Given the description of an element on the screen output the (x, y) to click on. 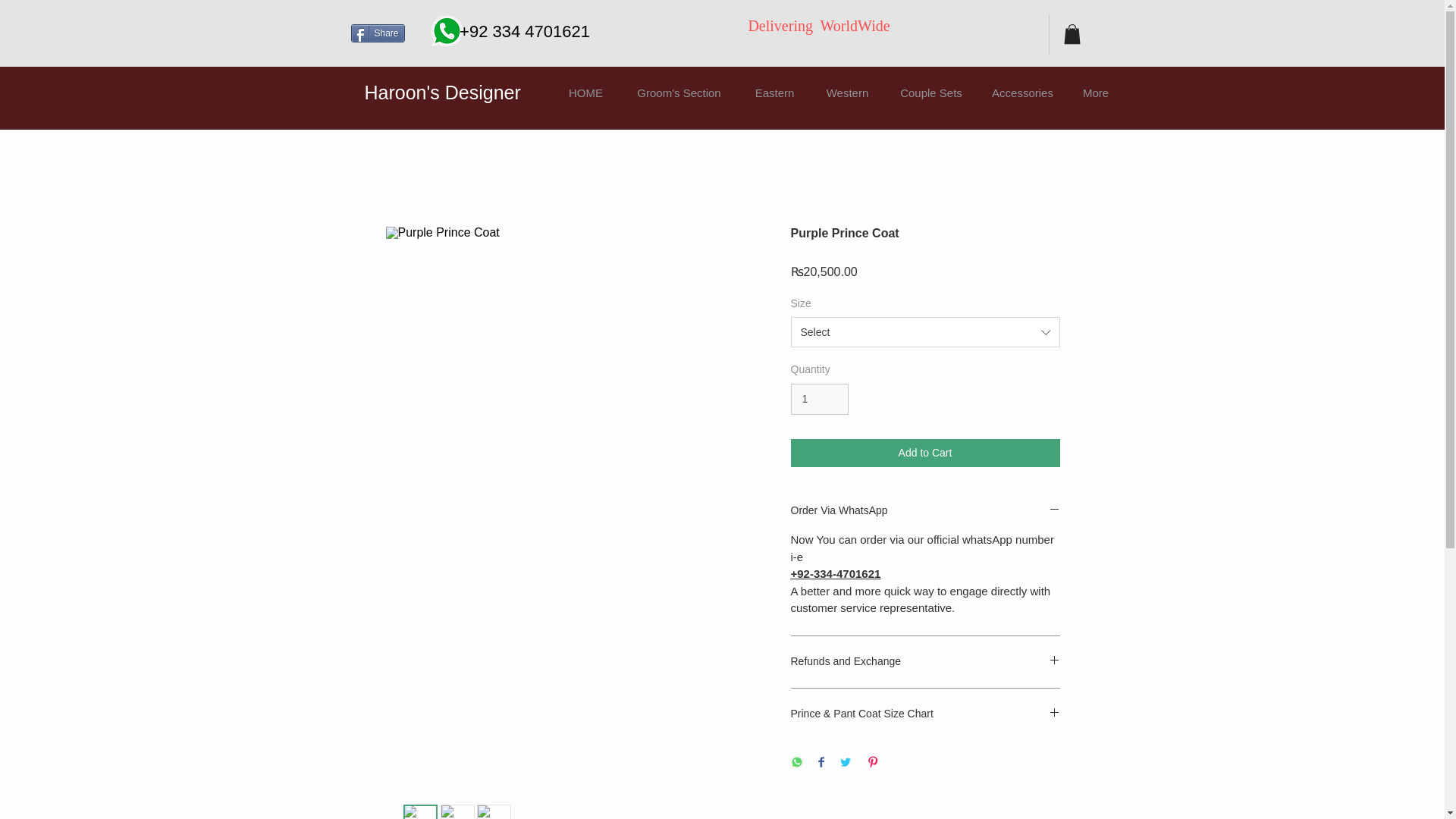
Share (377, 33)
Order Via WhatsApp (924, 511)
Share (377, 33)
Refunds and Exchange (924, 662)
Couple Sets (929, 92)
Select (924, 331)
Add to Cart (924, 452)
1 (818, 399)
HOME (584, 92)
Haroon's Designer (441, 92)
